Given the description of an element on the screen output the (x, y) to click on. 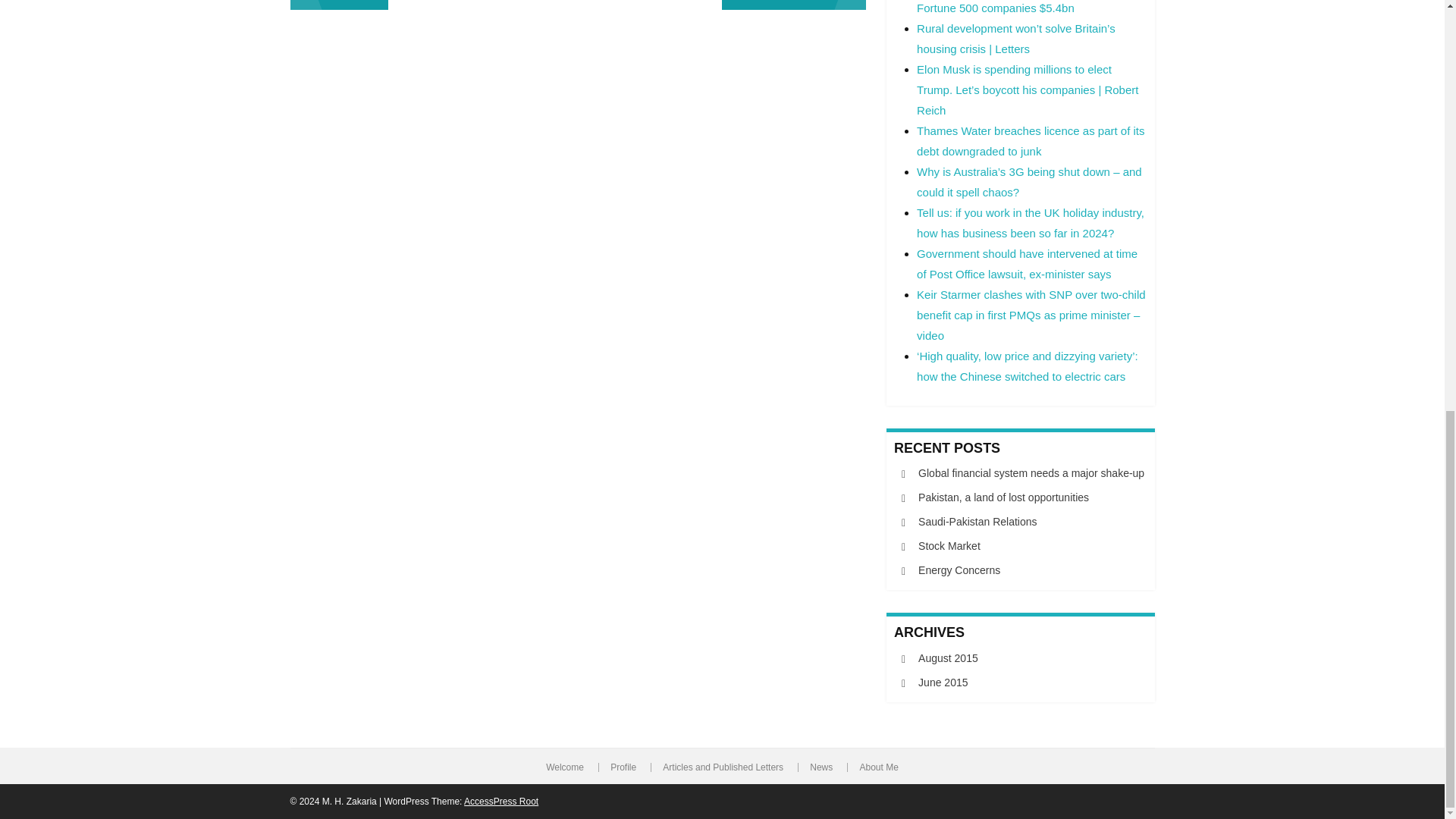
AccessPress Themes (501, 801)
Asian Visit (338, 4)
Saudi Stock Market (794, 4)
